Given the description of an element on the screen output the (x, y) to click on. 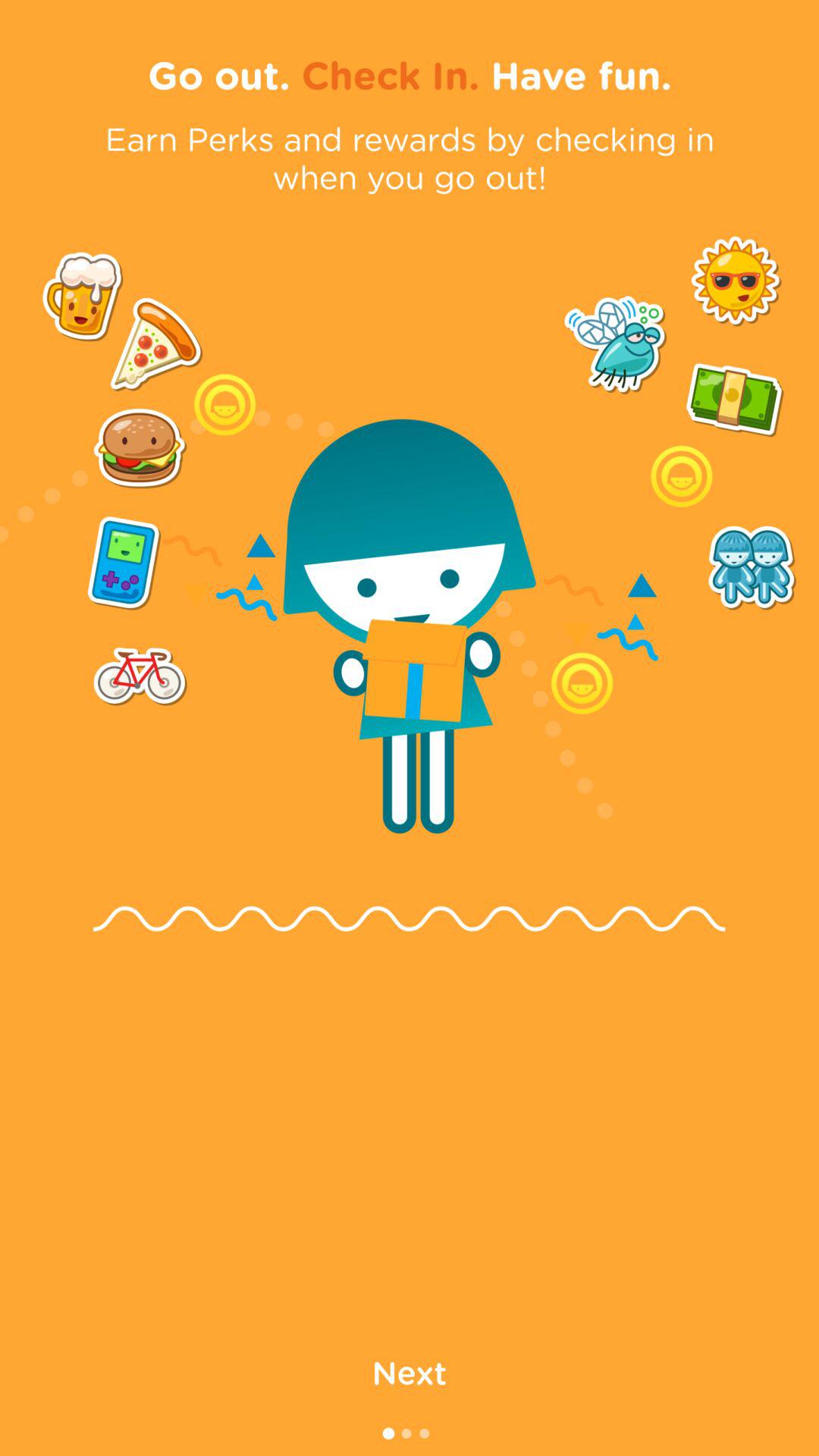
turn on the next item (409, 1371)
